Given the description of an element on the screen output the (x, y) to click on. 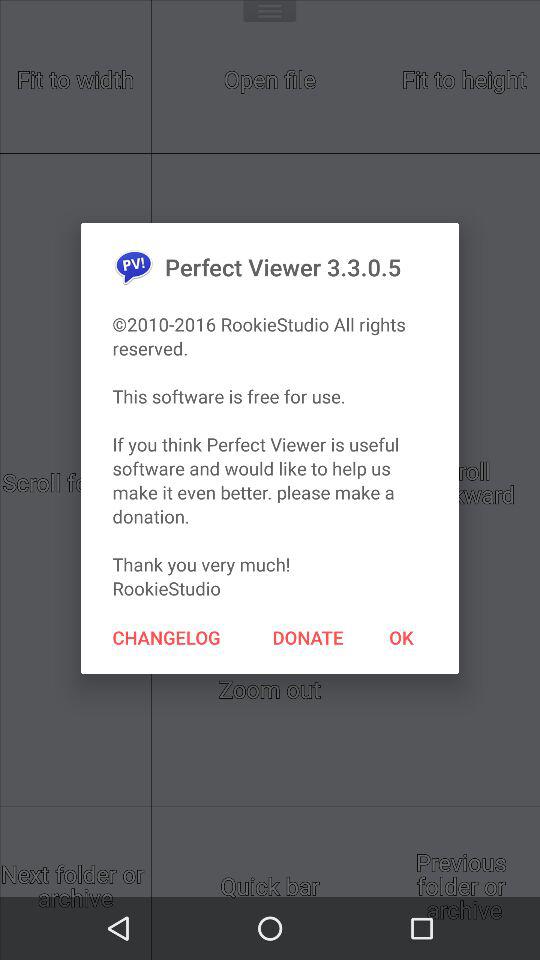
swipe until donate icon (307, 637)
